Given the description of an element on the screen output the (x, y) to click on. 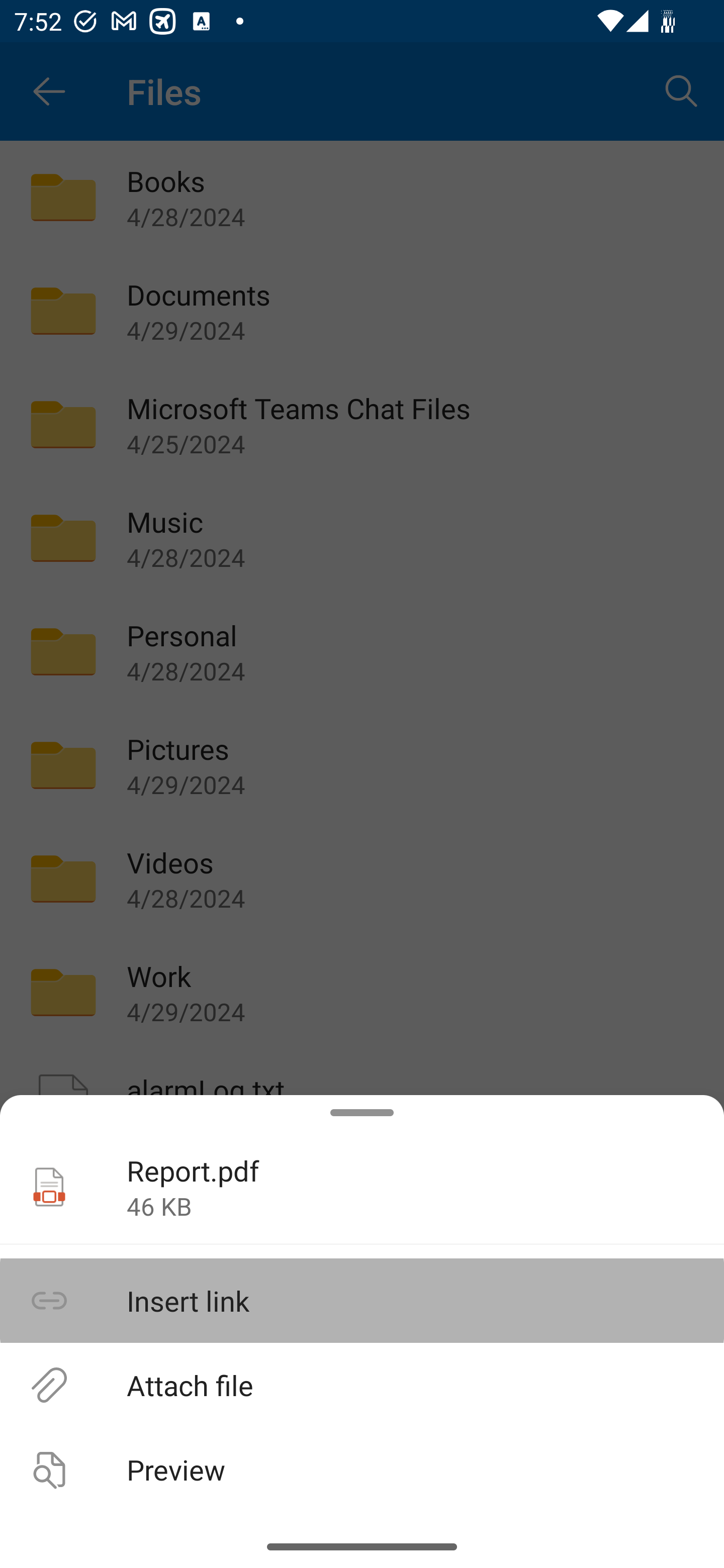
Insert link (362, 1300)
Attach file (362, 1384)
Preview (362, 1468)
